Given the description of an element on the screen output the (x, y) to click on. 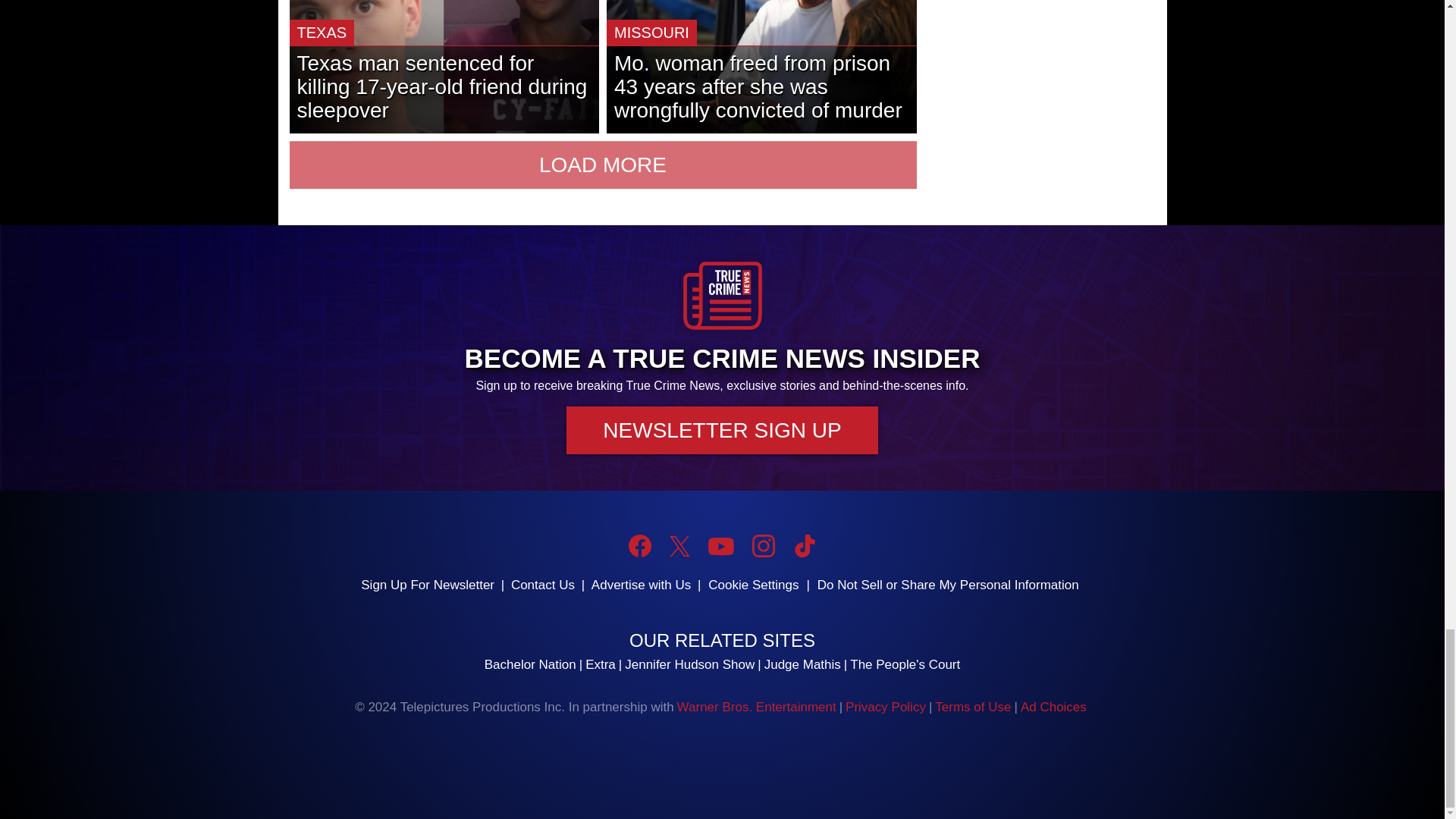
Instagram (763, 545)
TikTok (804, 545)
Facebook (639, 545)
Twitter (679, 546)
YouTube (720, 546)
